Given the description of an element on the screen output the (x, y) to click on. 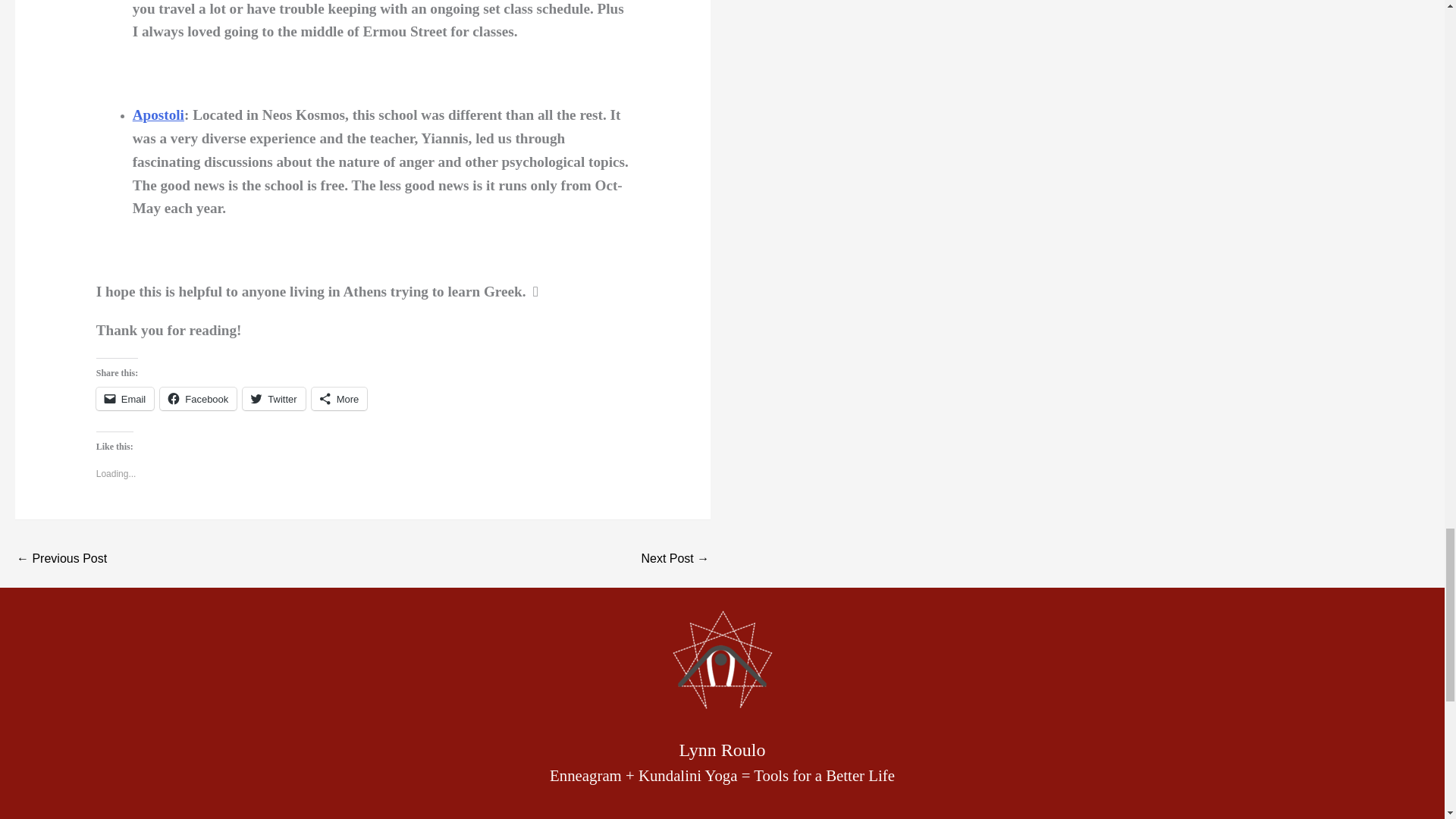
Click to share on Facebook (197, 398)
Click to email a link to a friend (125, 398)
Click to share on Twitter (273, 398)
